Given the description of an element on the screen output the (x, y) to click on. 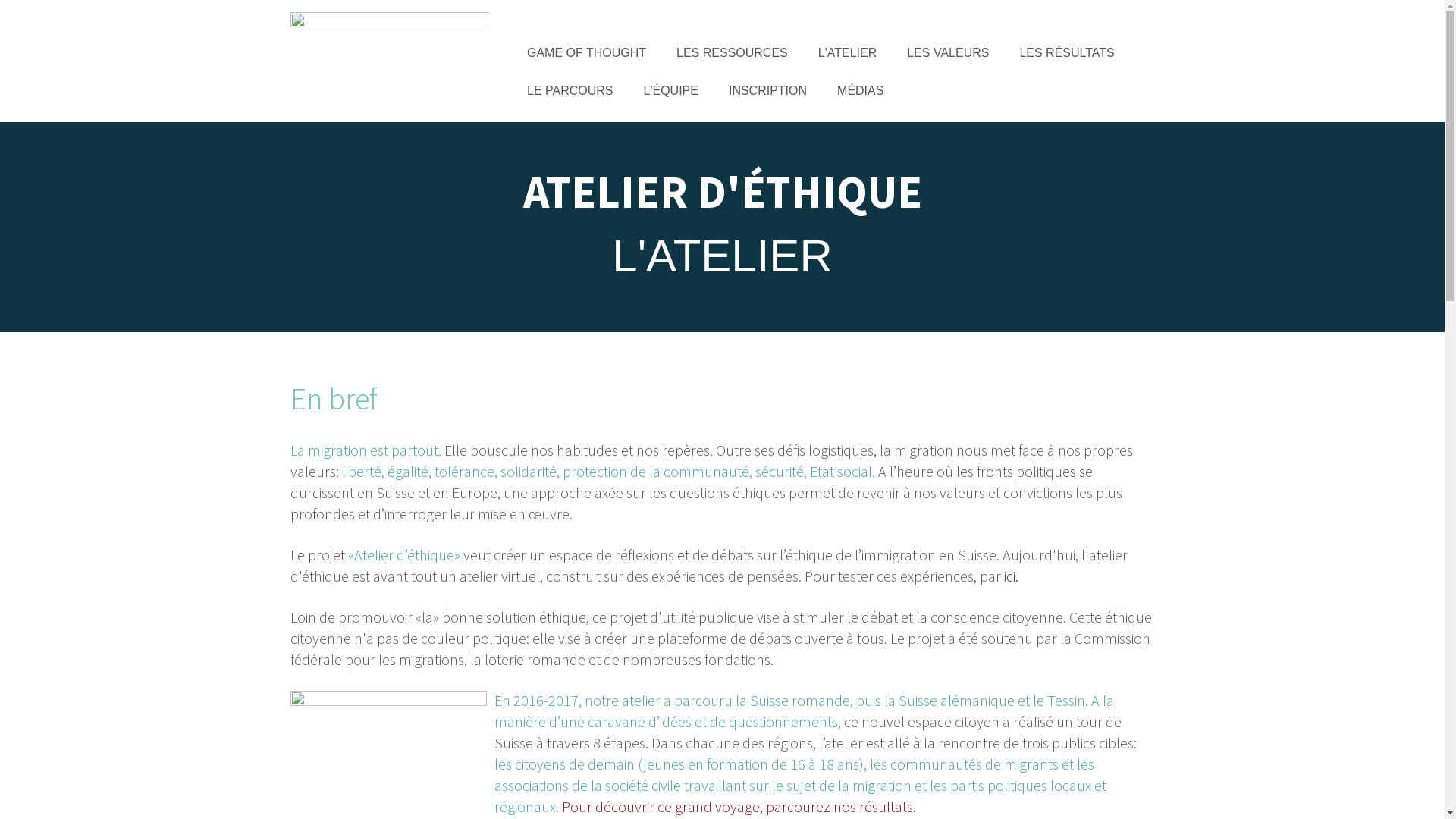
ici Element type: text (1009, 575)
GAME OF THOUGHT Element type: text (586, 52)
LES RESSOURCES Element type: text (731, 52)
INSCRIPTION Element type: text (767, 90)
LES VALEURS Element type: text (947, 52)
LE PARCOURS Element type: text (570, 90)
L'ATELIER Element type: text (847, 52)
